Given the description of an element on the screen output the (x, y) to click on. 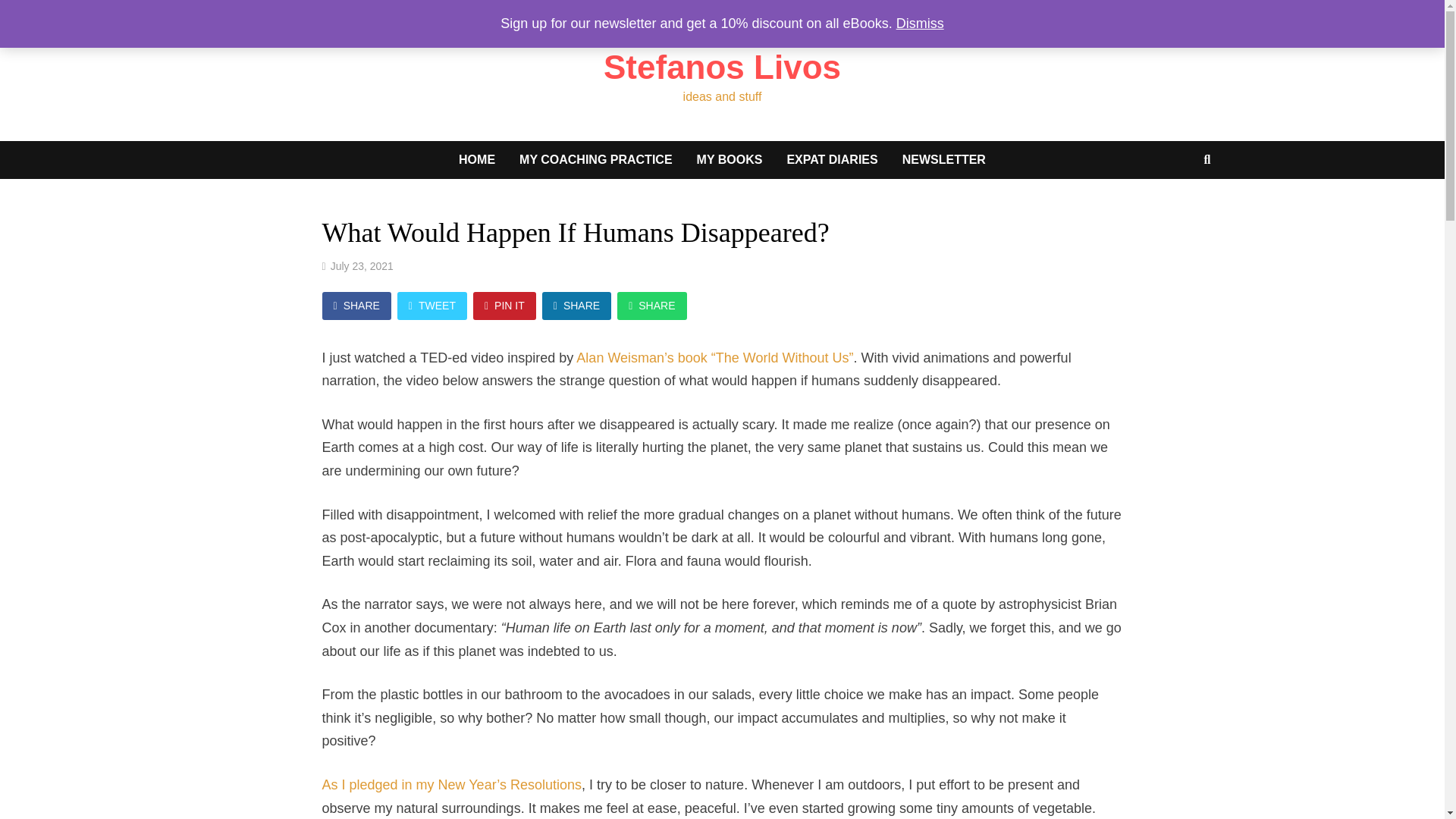
MY COACHING PRACTICE (595, 159)
NEWSLETTER (943, 159)
SHARE (355, 305)
PIN IT (504, 305)
SHARE (651, 305)
Stefanos Livos (722, 66)
TWEET (432, 305)
Instagram (1203, 11)
Facebook (1187, 11)
HOME (476, 159)
